Given the description of an element on the screen output the (x, y) to click on. 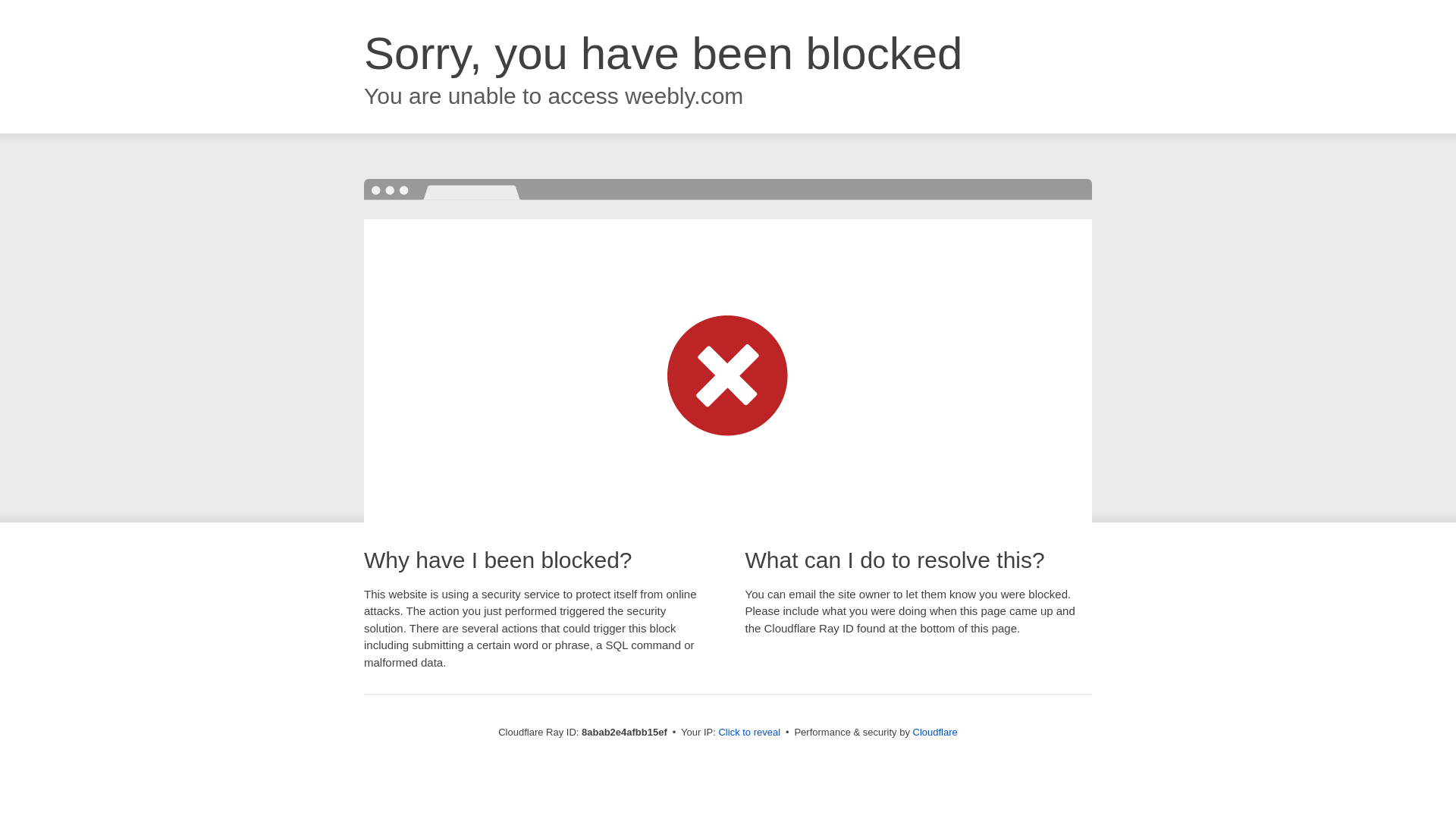
Cloudflare (935, 731)
Click to reveal (748, 732)
